Given the description of an element on the screen output the (x, y) to click on. 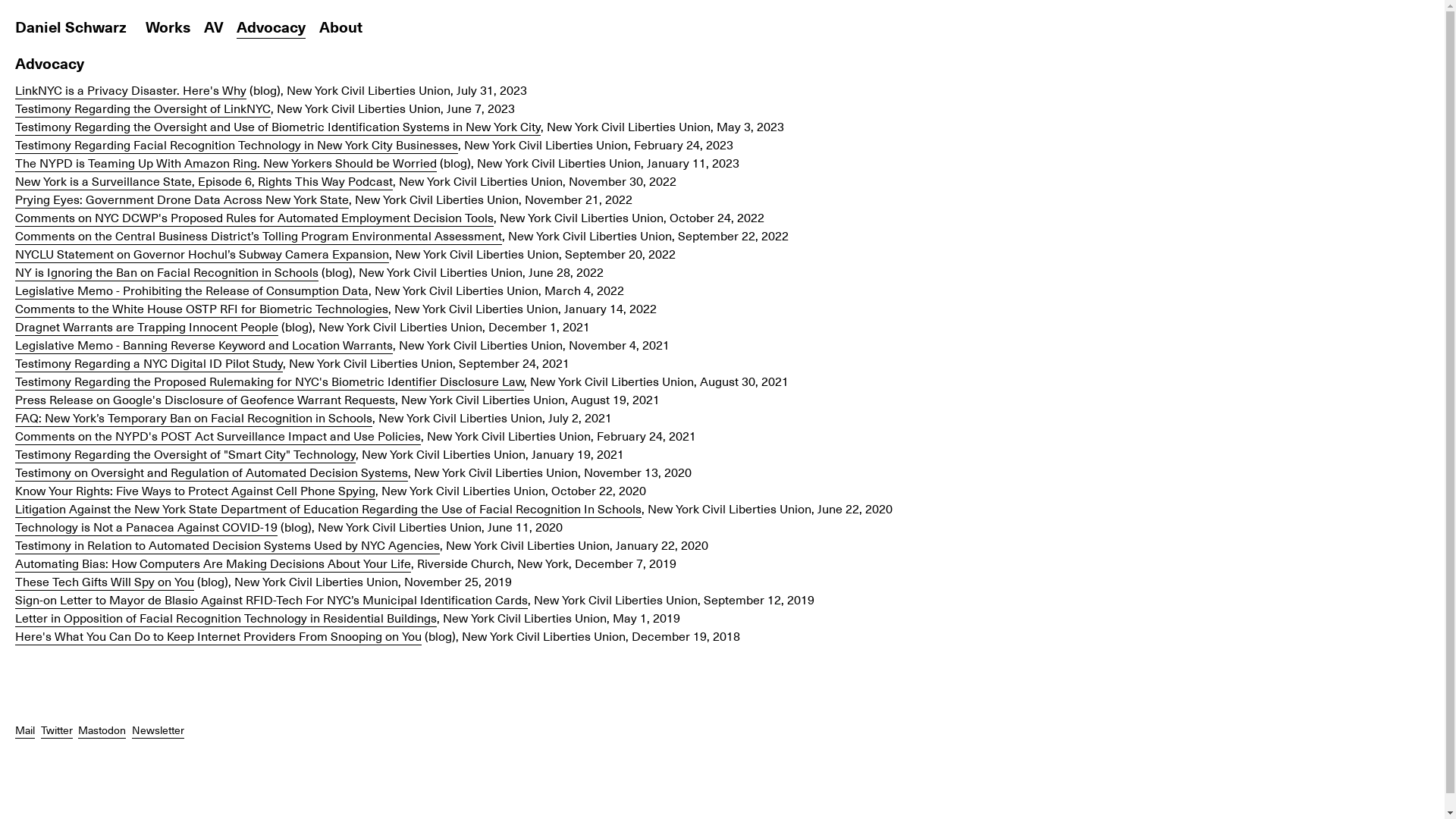
Testimony Regarding a NYC Digital ID Pilot Study Element type: text (148, 362)
Twitter Element type: text (56, 729)
AV Element type: text (212, 26)
Testimony Regarding the Oversight of LinkNYC Element type: text (142, 107)
LinkNYC is a Privacy Disaster. Here's Why Element type: text (130, 89)
Works Element type: text (167, 26)
These Tech Gifts Will Spy on You Element type: text (104, 580)
Prying Eyes: Government Drone Data Across New York State Element type: text (181, 198)
Daniel Schwarz Element type: text (70, 26)
NY is Ignoring the Ban on Facial Recognition in Schools Element type: text (166, 271)
Mastodon Element type: text (101, 729)
Testimony Regarding the Oversight of "Smart City" Technology Element type: text (185, 453)
About Element type: text (339, 26)
Dragnet Warrants are Trapping Innocent People Element type: text (146, 325)
Newsletter Element type: text (157, 729)
Technology is Not a Panacea Against COVID-19 Element type: text (146, 526)
Mail Element type: text (24, 729)
Advocacy Element type: text (270, 26)
